Given the description of an element on the screen output the (x, y) to click on. 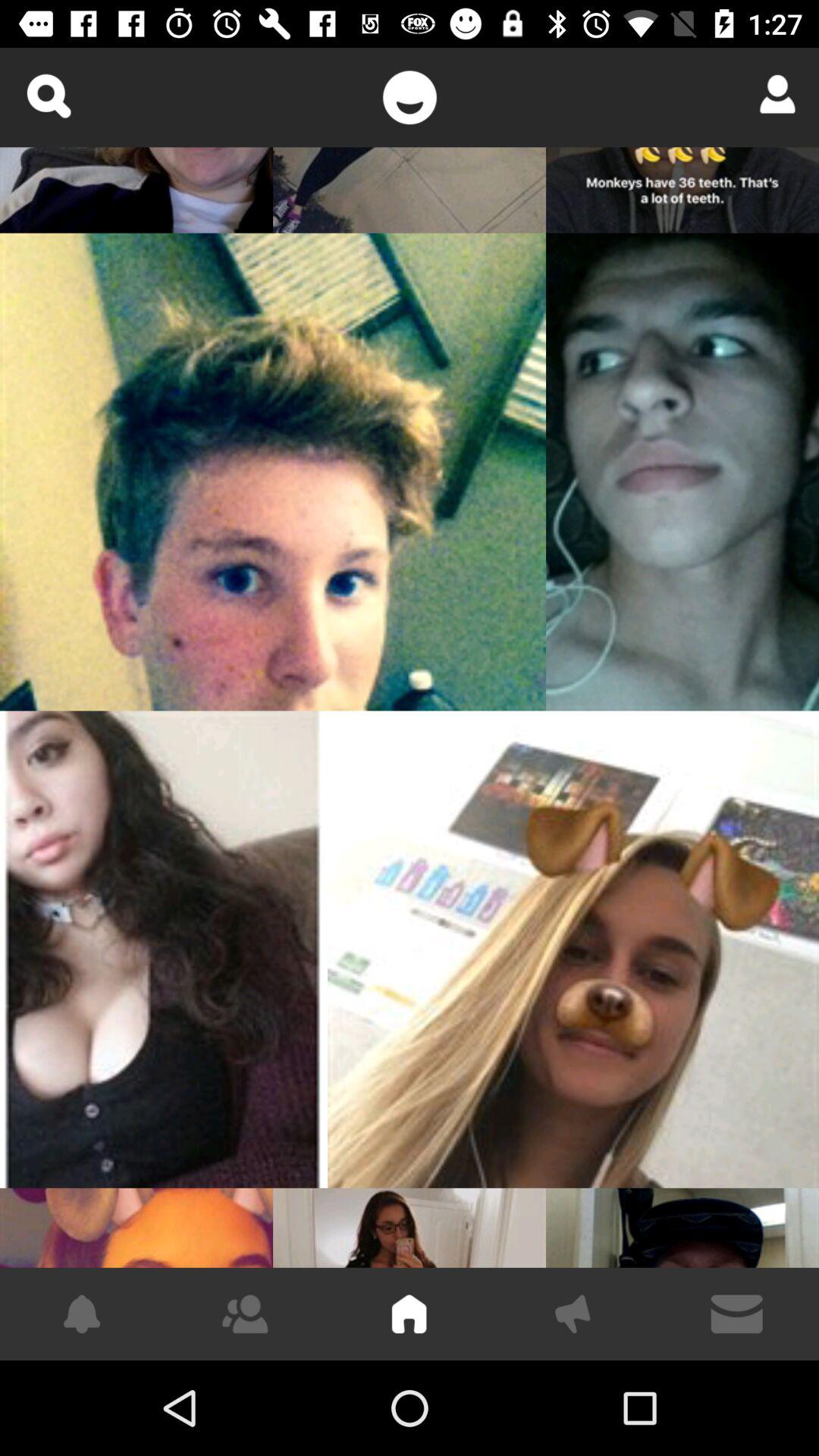
go to alarm icon at the bottom row (81, 1313)
